Given the description of an element on the screen output the (x, y) to click on. 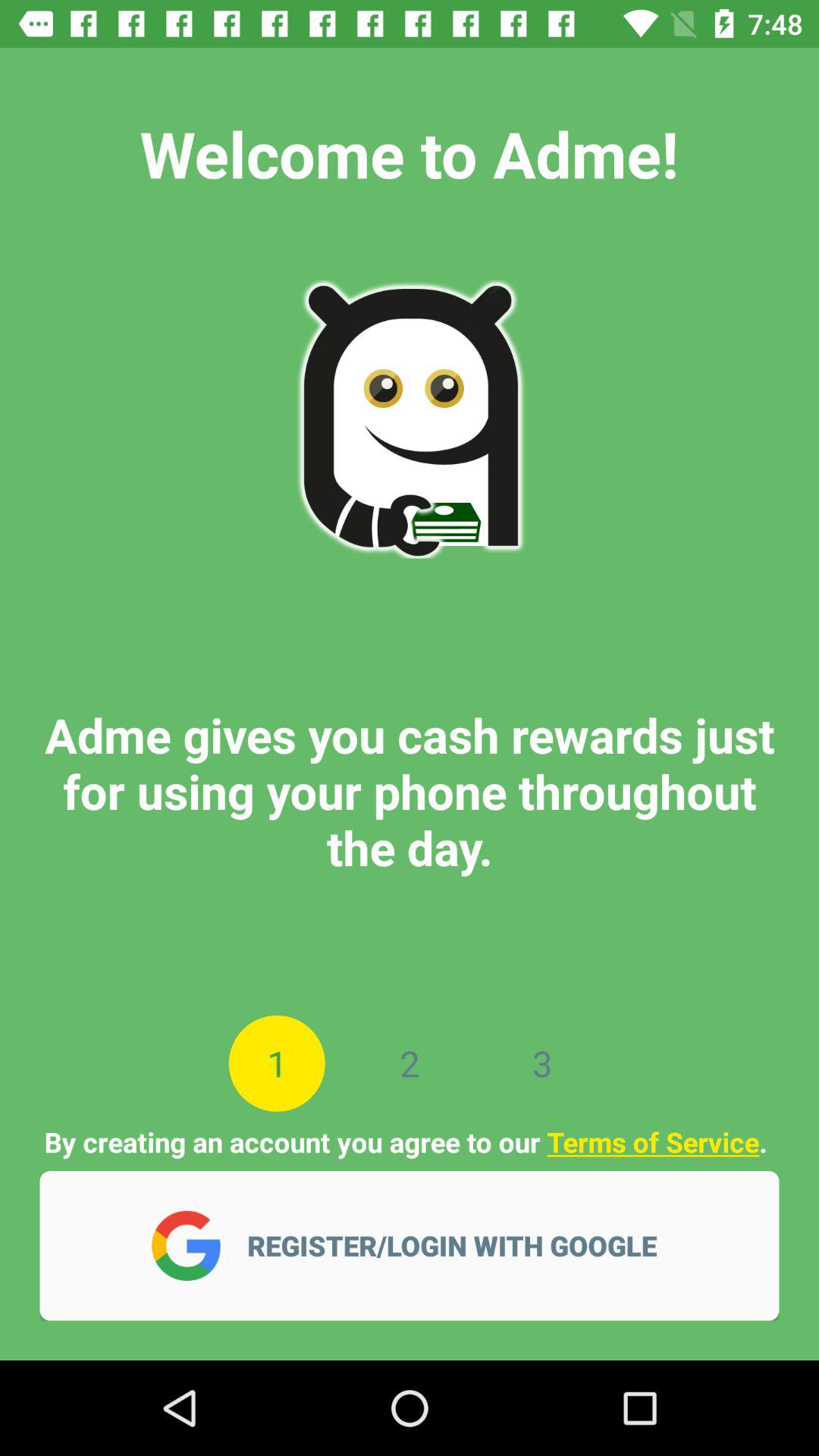
swipe until the by creating an item (409, 1141)
